Given the description of an element on the screen output the (x, y) to click on. 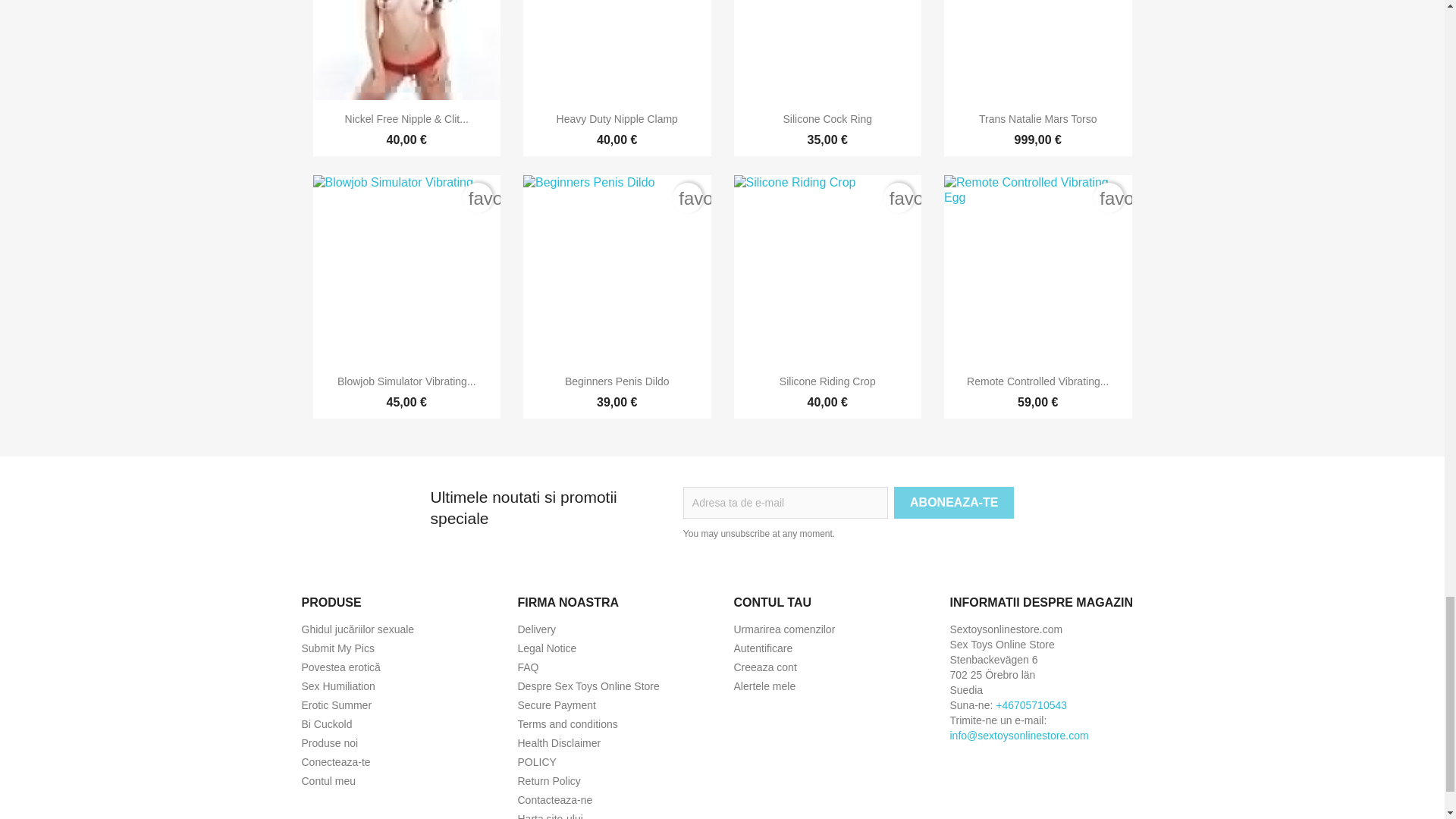
Aboneaza-te (953, 502)
